Given the description of an element on the screen output the (x, y) to click on. 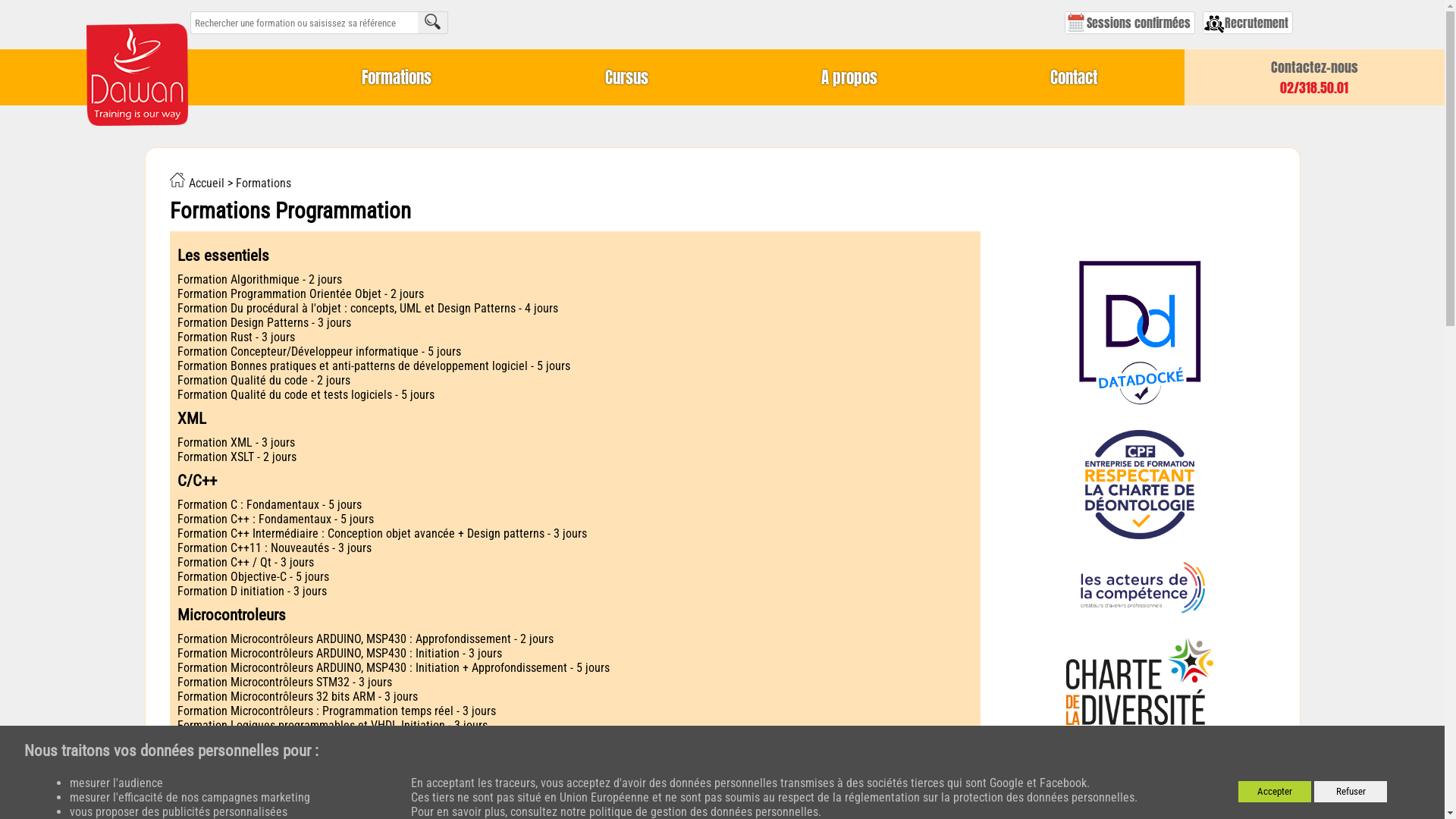
Formations Element type: text (396, 76)
Microcontroleurs Element type: text (574, 614)
Formation XML - 3 jours Element type: text (574, 442)
Facebook Element type: text (1062, 782)
Google Element type: text (1006, 782)
Formation Algorithmique - 2 jours Element type: text (574, 279)
Formation D initiation - 3 jours Element type: text (574, 590)
Formation Objective-C - 5 jours Element type: text (574, 576)
Formation COBOL Initiation - 3 jours Element type: text (574, 787)
Cursus Element type: text (626, 76)
Formation Rust - 3 jours Element type: text (574, 336)
Accueil Element type: text (196, 182)
Recrutement Element type: text (1247, 22)
Contact Element type: text (1073, 76)
Formation Design Patterns - 3 jours Element type: text (574, 322)
Formation XSLT - 2 jours Element type: text (574, 456)
Formations Element type: text (262, 182)
Refuser Element type: text (1350, 791)
Contactez-nous
02/318.50.01 Element type: text (1314, 77)
Accepter Element type: text (1274, 791)
Formation COBOL Approfondissement - 2 jours Element type: text (574, 801)
COBOL Element type: text (574, 763)
Formation C++ : Fondamentaux - 5 jours Element type: text (574, 518)
A propos Element type: text (849, 76)
Accueil Element type: hover (137, 84)
Les essentiels Element type: text (574, 255)
Formation C++ / Qt - 3 jours Element type: text (574, 562)
C/C++ Element type: text (574, 480)
XML Element type: text (574, 418)
Formation C : Fondamentaux - 5 jours Element type: text (574, 504)
